Given the description of an element on the screen output the (x, y) to click on. 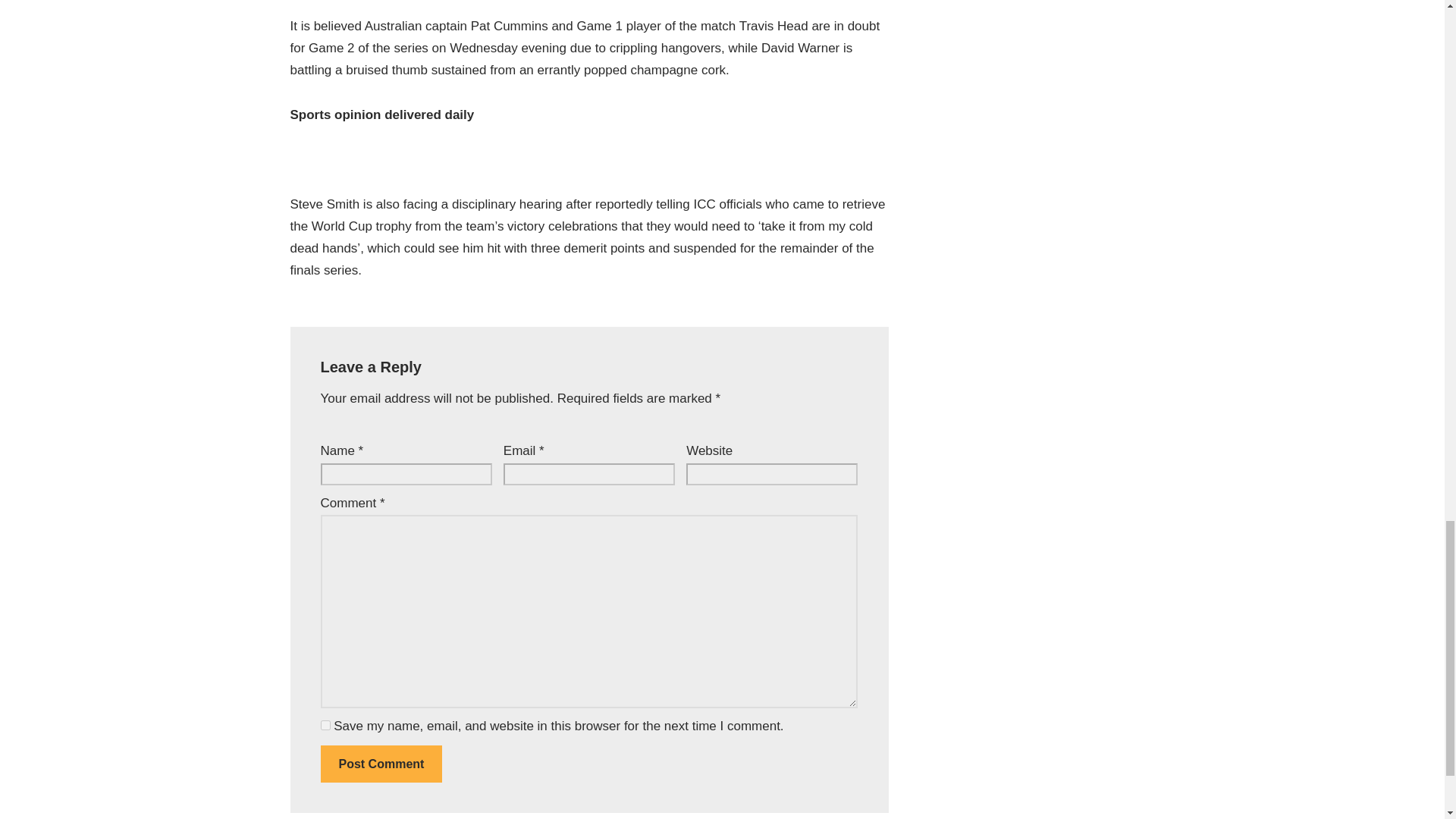
yes (325, 725)
Post Comment (381, 763)
Post Comment (381, 763)
